Given the description of an element on the screen output the (x, y) to click on. 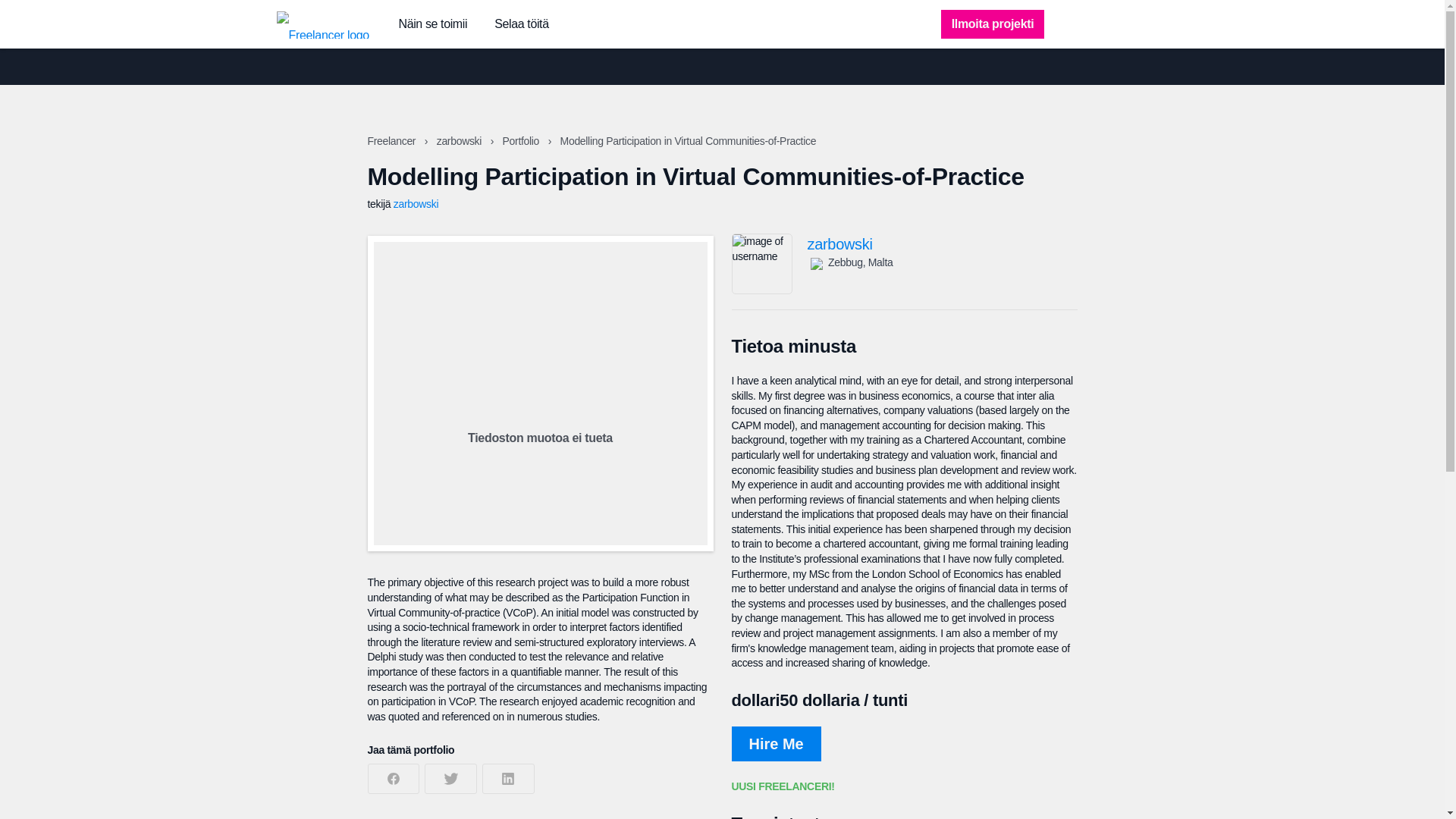
Portfolio (521, 141)
zarbowski (415, 203)
Freelancer (391, 141)
zarbowski (941, 243)
Jaa Facebookissa (392, 778)
Ilmoita projekti (992, 23)
zarbowski (460, 141)
Hire Me (775, 743)
